Given the description of an element on the screen output the (x, y) to click on. 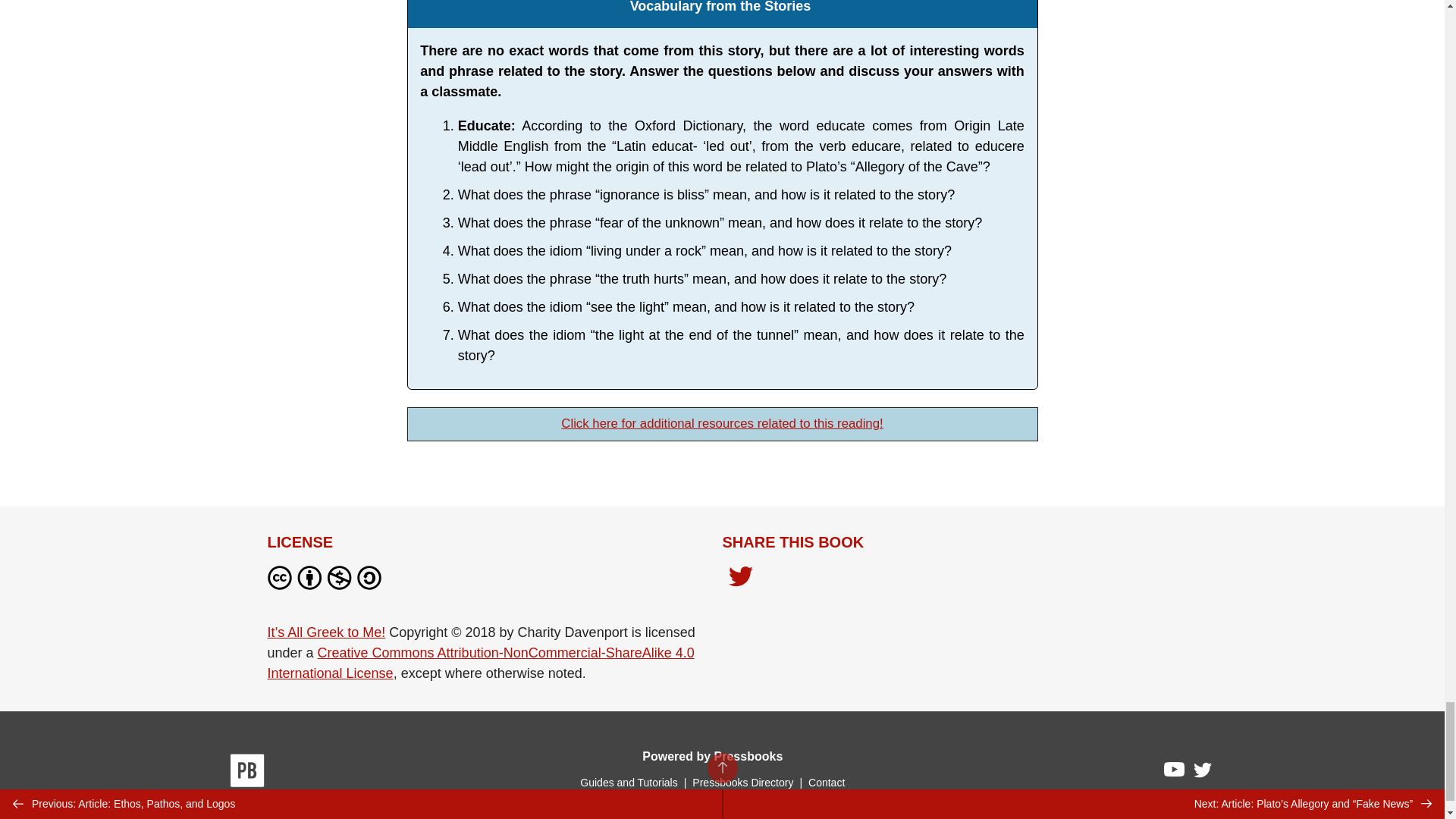
Contact (826, 782)
Click here for additional resources related to this reading! (721, 423)
Pressbooks Directory (742, 782)
Share on Twitter (740, 580)
Guides and Tutorials (627, 782)
Share on Twitter (740, 577)
Powered by Pressbooks (712, 756)
Pressbooks on YouTube (1174, 773)
